Given the description of an element on the screen output the (x, y) to click on. 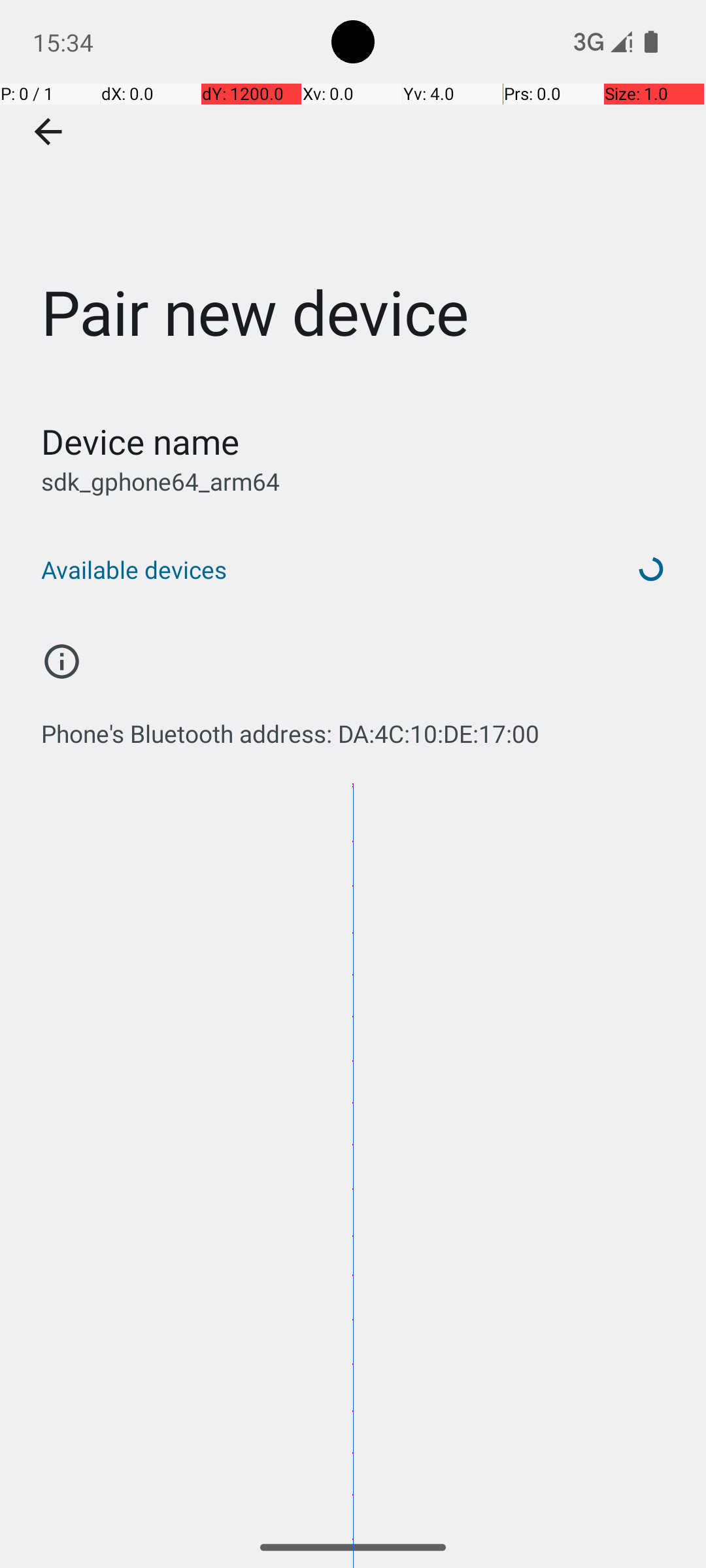
Pair new device Element type: android.widget.FrameLayout (353, 195)
Device name Element type: android.widget.TextView (140, 441)
Available devices Element type: android.widget.TextView (318, 569)
Phone's Bluetooth address: DA:4C:10:DE:17:00 Element type: android.widget.TextView (290, 726)
